Given the description of an element on the screen output the (x, y) to click on. 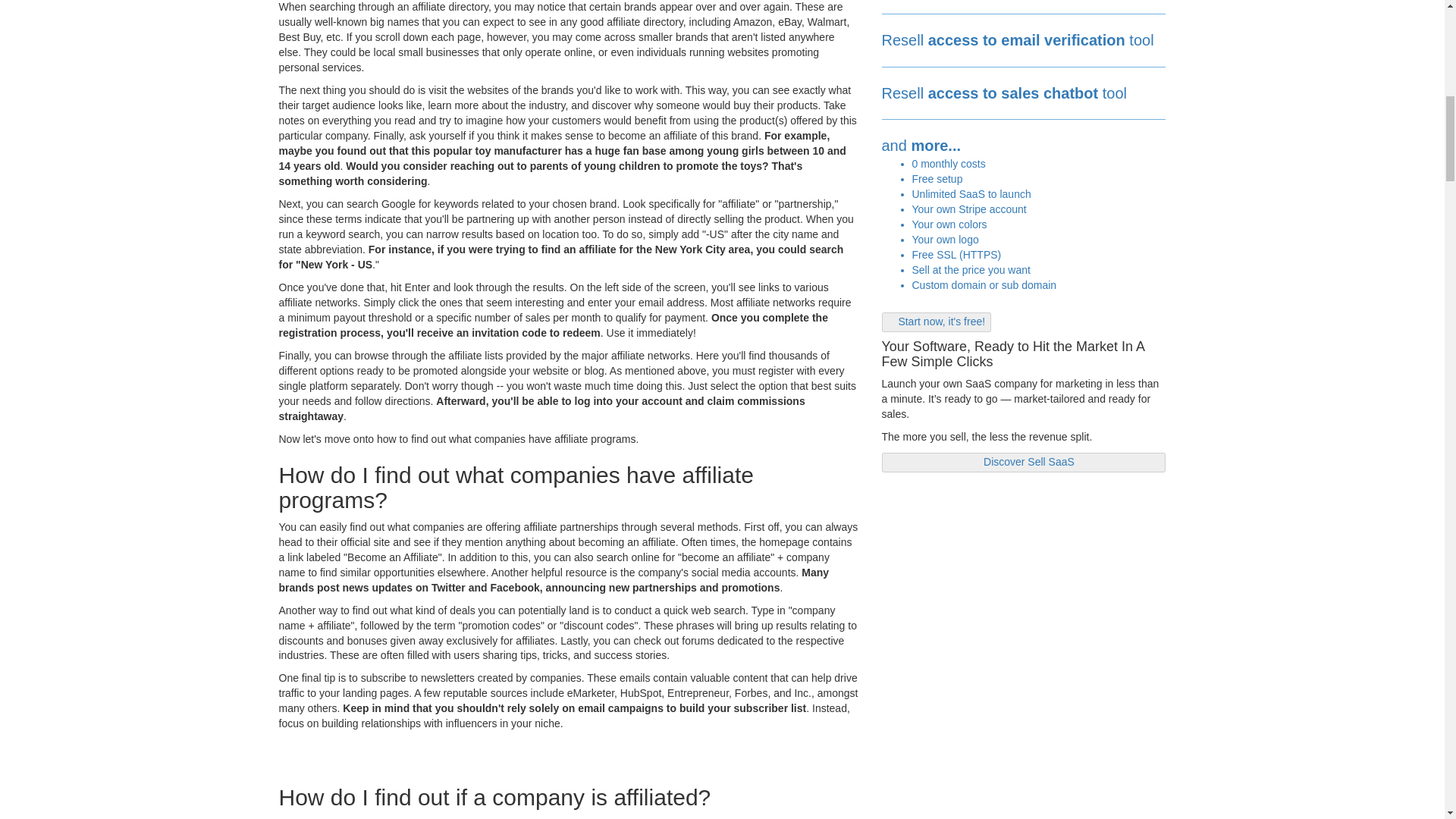
Discover Sell SaaS (1023, 462)
Start now, it's free! (935, 322)
Discover Sell SaaS (1023, 461)
Discover Sell SaaS (1023, 461)
